Given the description of an element on the screen output the (x, y) to click on. 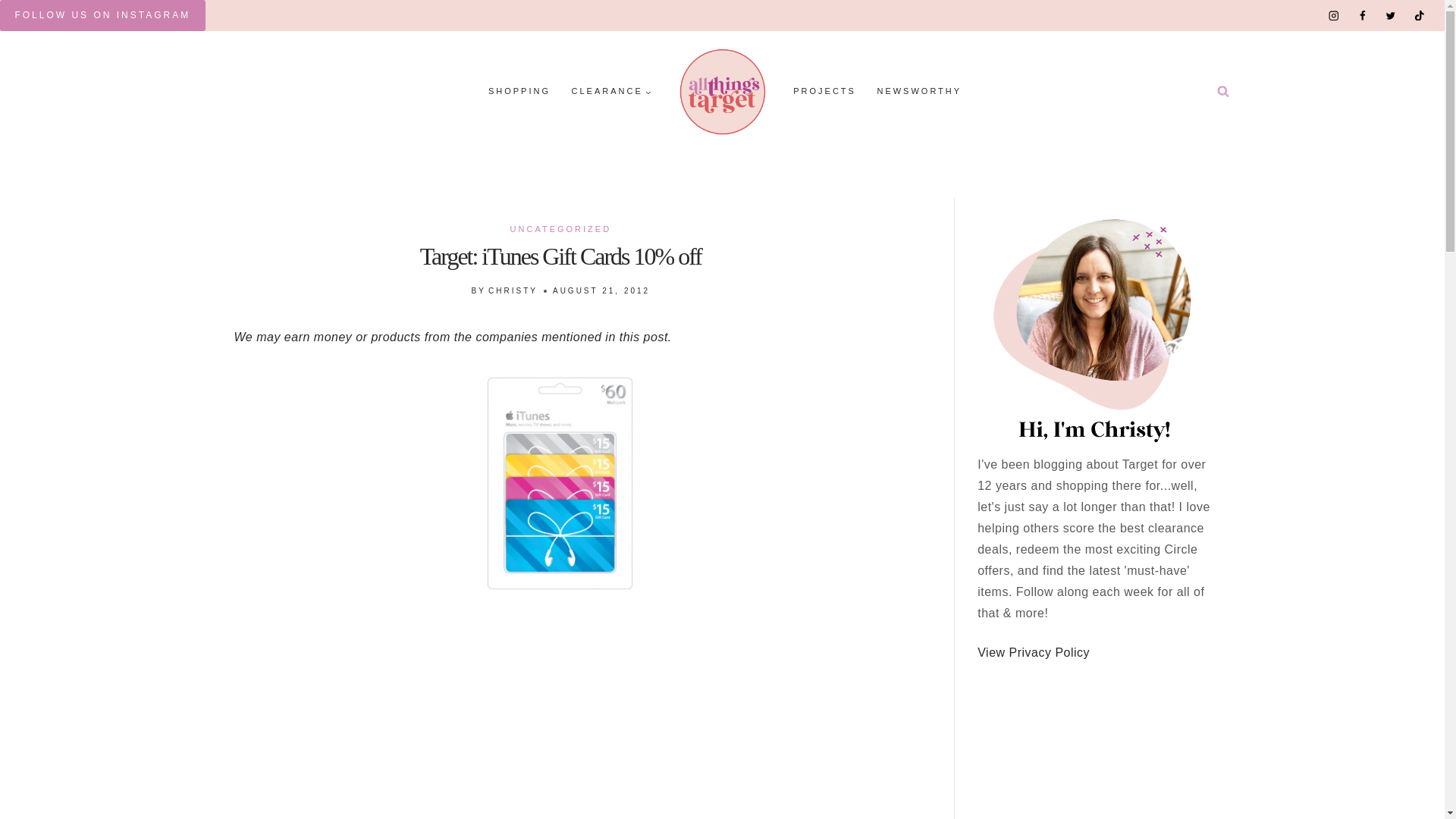
CLEARANCE (611, 92)
NEWSWORTHY (919, 92)
FOLLOW US ON INSTAGRAM (102, 15)
PROJECTS (824, 92)
SHOPPING (518, 92)
CHRISTY (512, 290)
UNCATEGORIZED (561, 228)
